Given the description of an element on the screen output the (x, y) to click on. 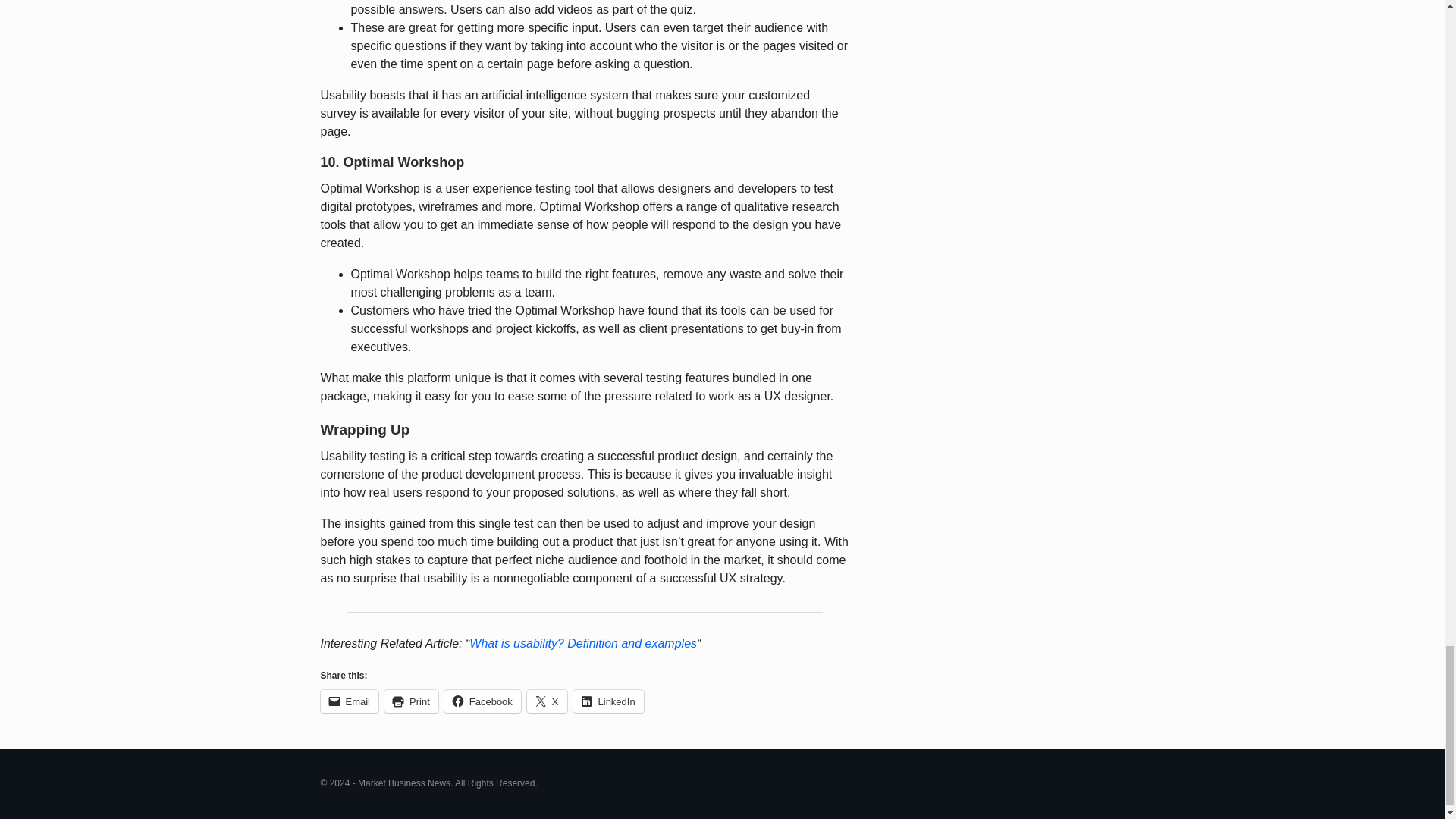
Click to print (411, 701)
What is usability? Definition and examples (582, 643)
Click to share on LinkedIn (608, 701)
LinkedIn (608, 701)
Click to email a link to a friend (349, 701)
Click to share on Facebook (482, 701)
X (547, 701)
Click to share on X (547, 701)
Print (411, 701)
Email (349, 701)
Facebook (482, 701)
